Given the description of an element on the screen output the (x, y) to click on. 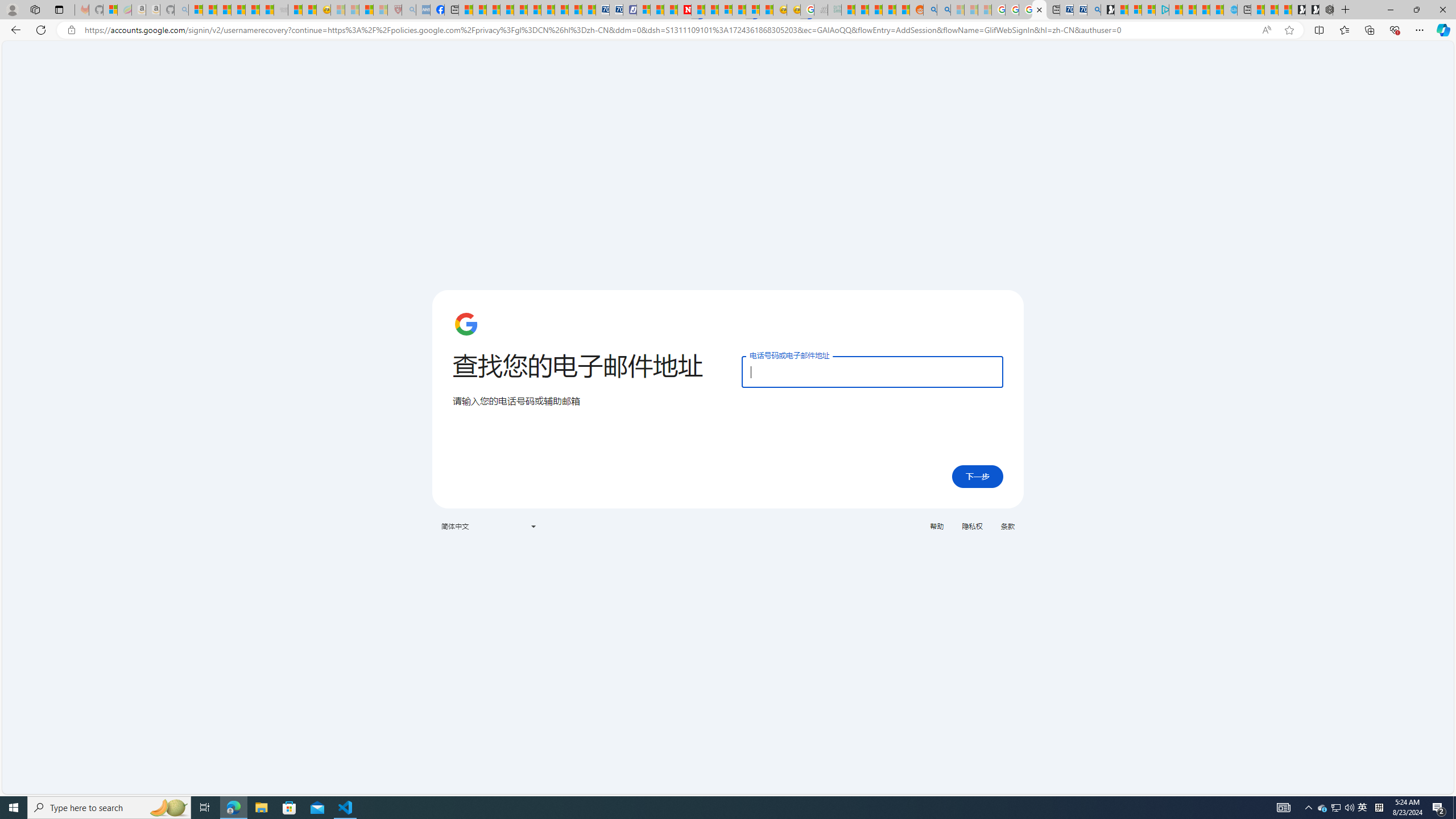
Recipes - MSN - Sleeping (337, 9)
Science - MSN (365, 9)
Home | Sky Blue Bikes - Sky Blue Bikes (1229, 9)
Robert H. Shmerling, MD - Harvard Health - Sleeping (394, 9)
